Given the description of an element on the screen output the (x, y) to click on. 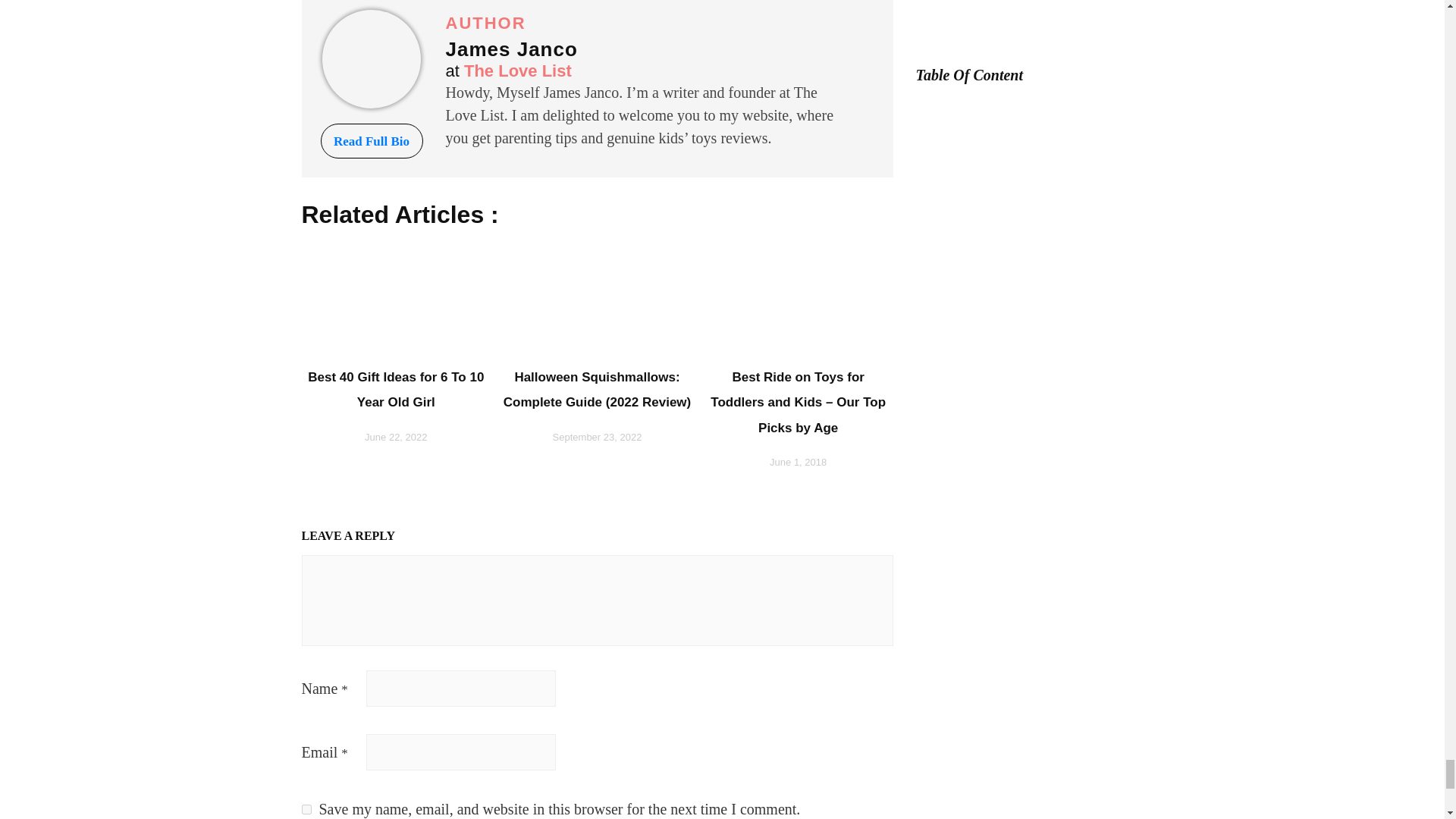
yes (306, 809)
Jmaes Janco (370, 58)
